Given the description of an element on the screen output the (x, y) to click on. 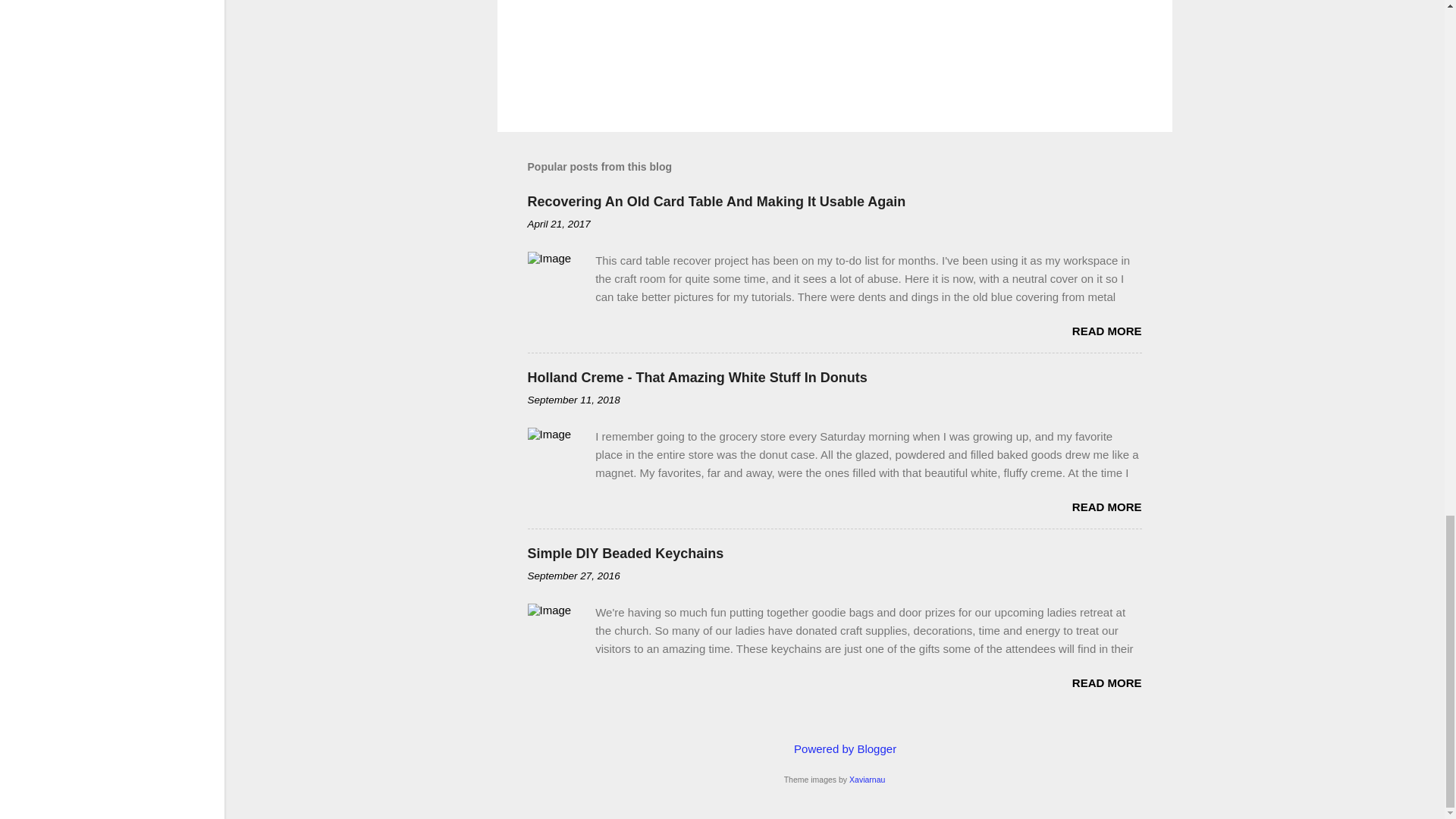
Powered by Blogger (834, 748)
Simple DIY Beaded Keychains (625, 553)
permanent link (559, 224)
Recovering An Old Card Table And Making It Usable Again (716, 201)
September 11, 2018 (573, 399)
Xaviarnau (866, 778)
April 21, 2017 (559, 224)
READ MORE (1106, 330)
Holland Creme - That Amazing White Stuff In Donuts (697, 377)
September 27, 2016 (573, 575)
READ MORE (1106, 506)
READ MORE (1106, 682)
